Given the description of an element on the screen output the (x, y) to click on. 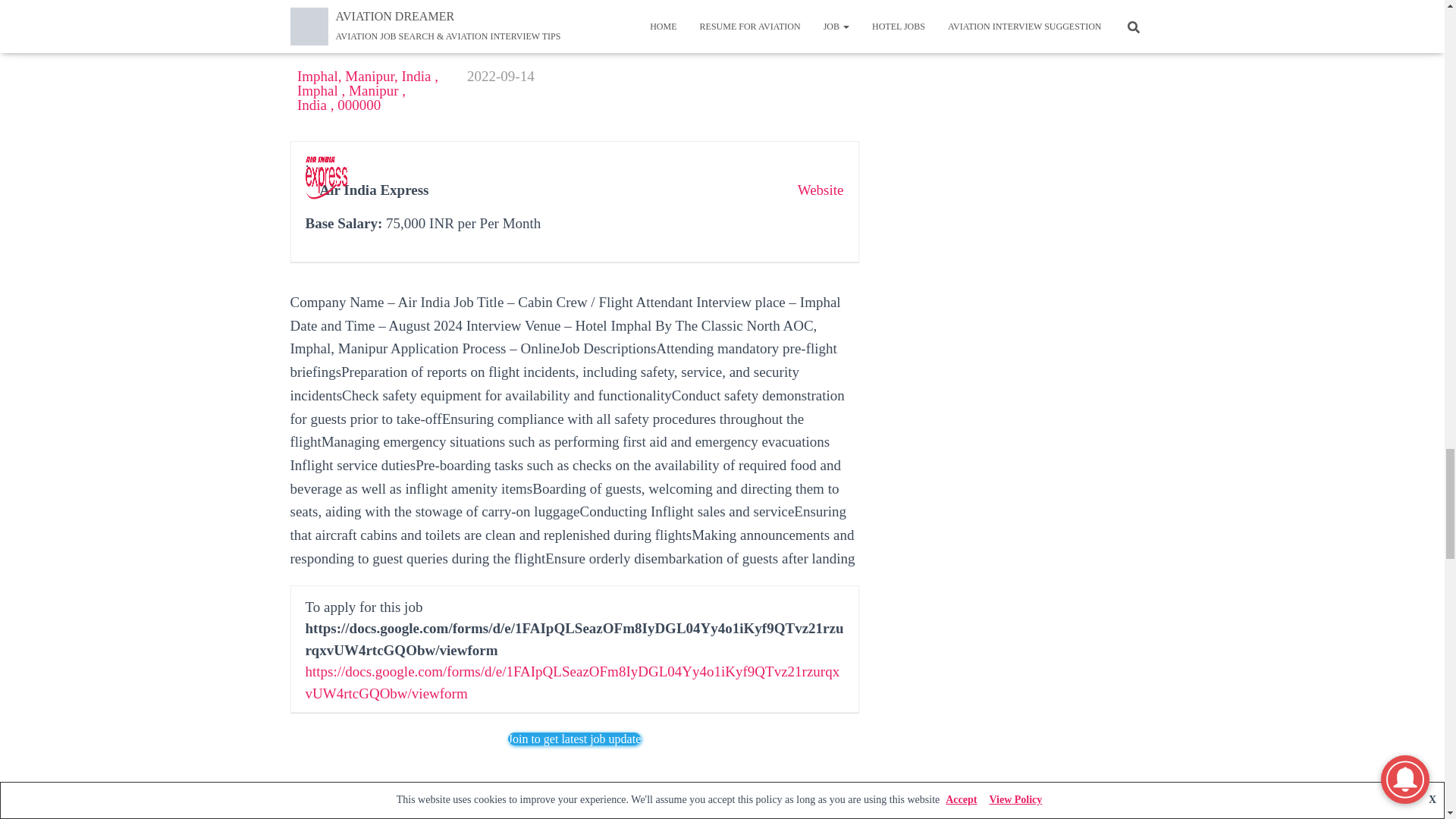
Website (820, 190)
Join to get latest job update (575, 738)
